Given the description of an element on the screen output the (x, y) to click on. 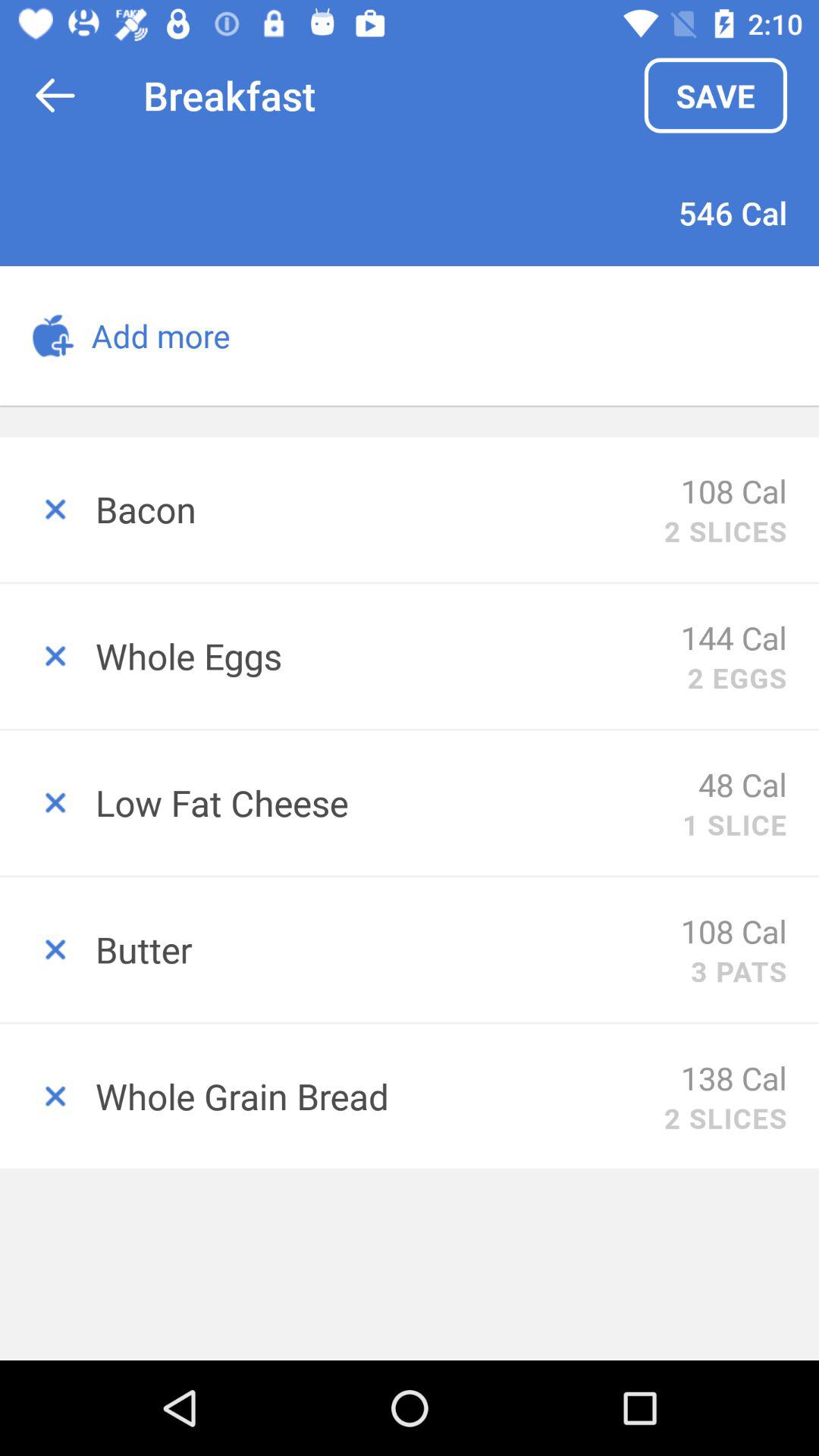
delete the ingredient (47, 802)
